Given the description of an element on the screen output the (x, y) to click on. 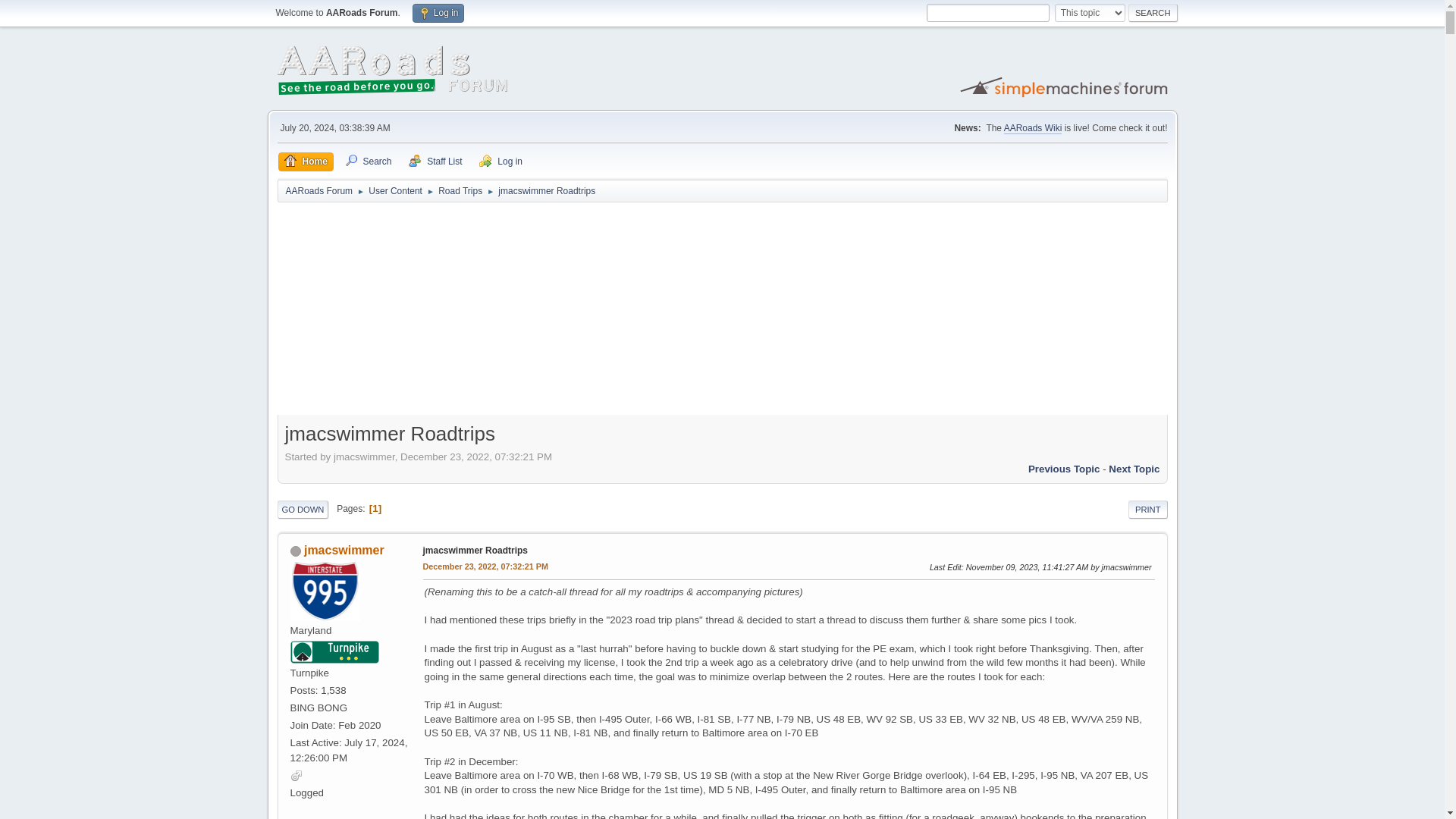
PRINT (1147, 509)
jmacswimmer Roadtrips (485, 567)
Simple Machines Forum (1064, 86)
Log in (438, 13)
User Content (395, 188)
GO DOWN (303, 509)
Search (1152, 13)
AARoads Wiki (1033, 128)
Offline (294, 551)
jmacswimmer Roadtrips (475, 550)
Male (295, 775)
View the profile of jmacswimmer (344, 549)
AARoads Forum (318, 188)
jmacswimmer (344, 549)
